Given the description of an element on the screen output the (x, y) to click on. 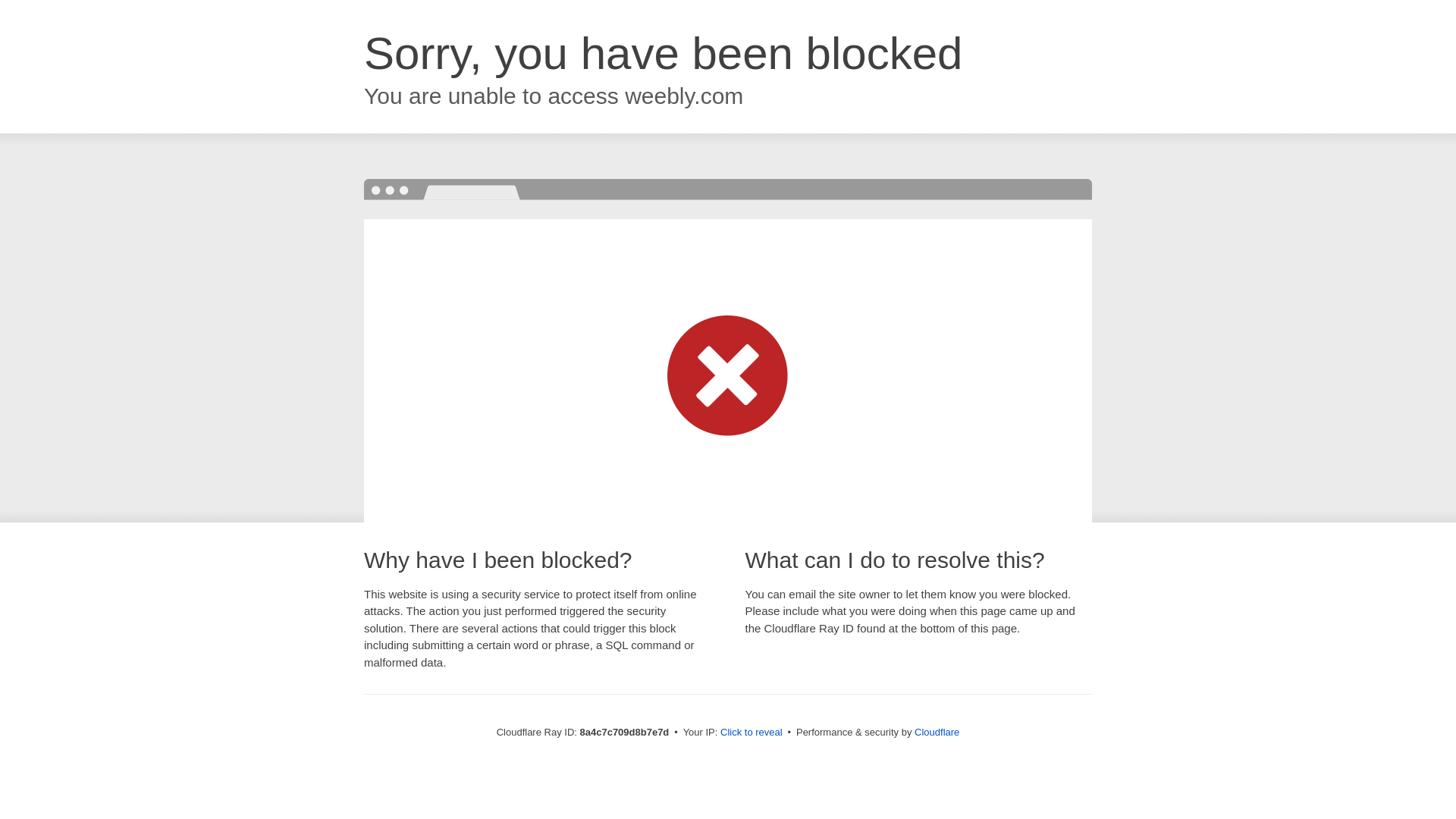
Click to reveal (751, 732)
Cloudflare (936, 731)
